Given the description of an element on the screen output the (x, y) to click on. 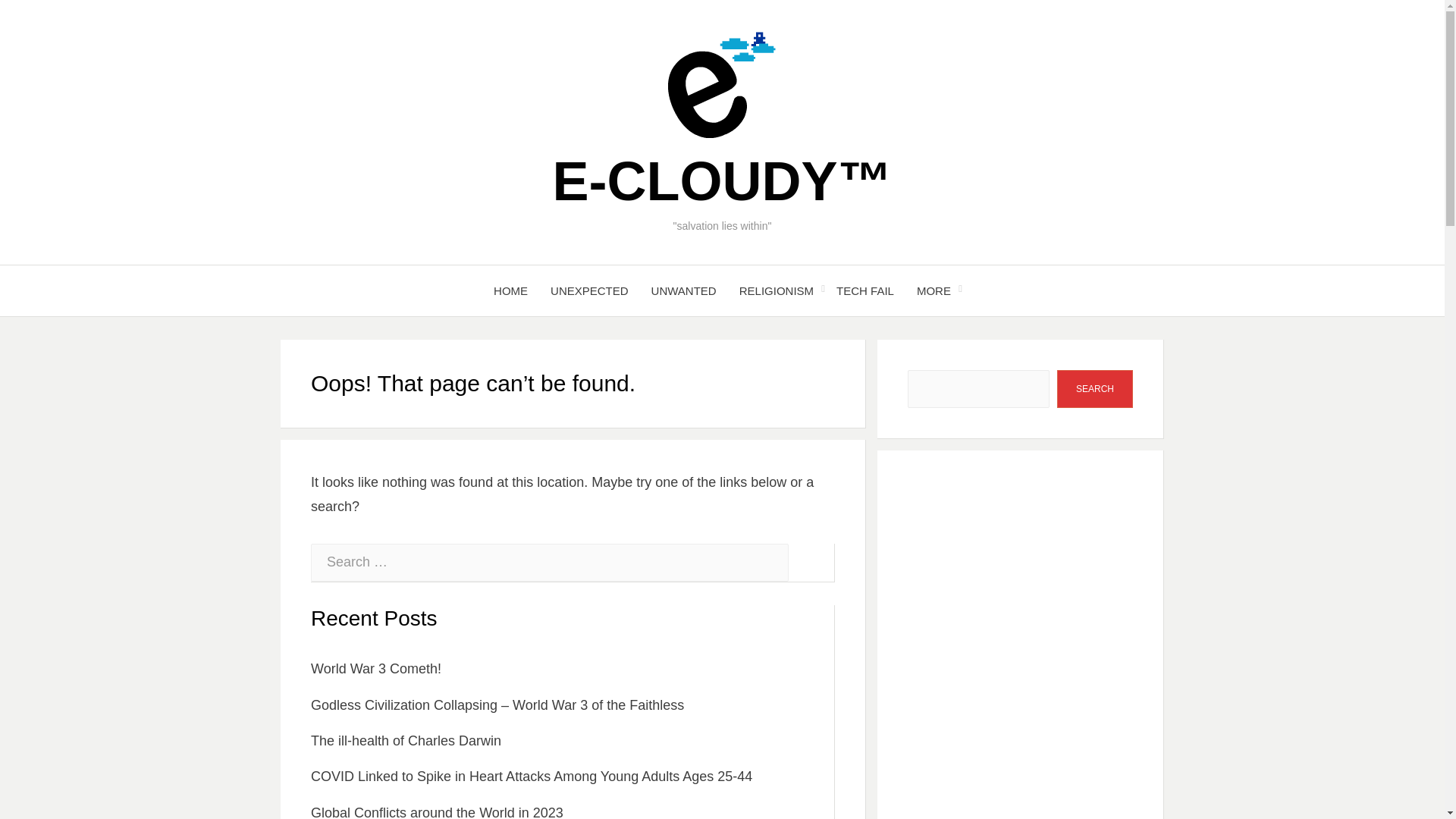
UNWANTED (684, 290)
Search for: (550, 562)
The ill-health of Charles Darwin (405, 740)
MORE (933, 290)
World War 3 Cometh! (376, 668)
RELIGIONISM (776, 290)
Global Conflicts around the World in 2023 (437, 812)
HOME (509, 290)
UNEXPECTED (589, 290)
